Given the description of an element on the screen output the (x, y) to click on. 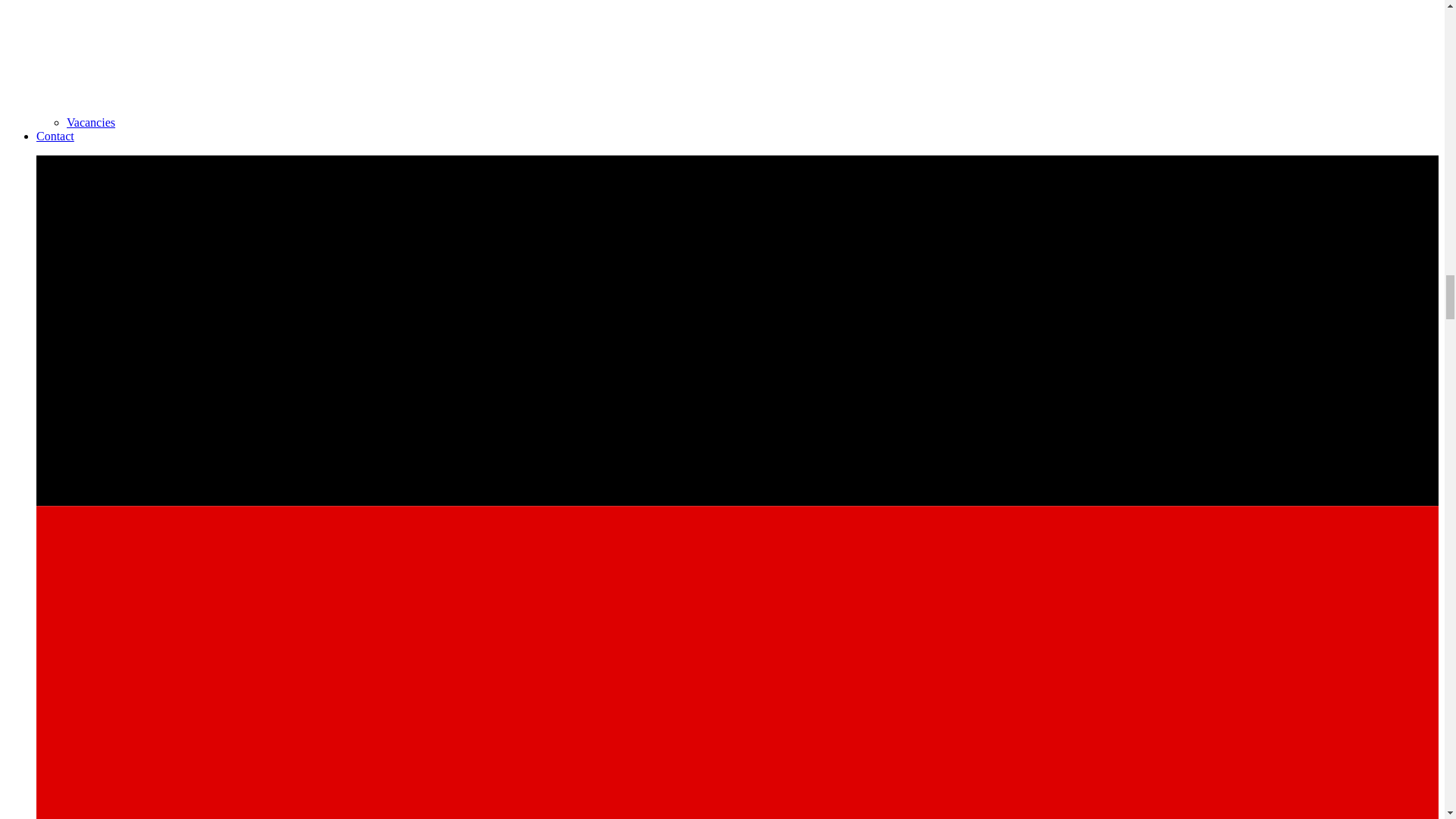
Contact (55, 135)
Vacancies (90, 122)
